Given the description of an element on the screen output the (x, y) to click on. 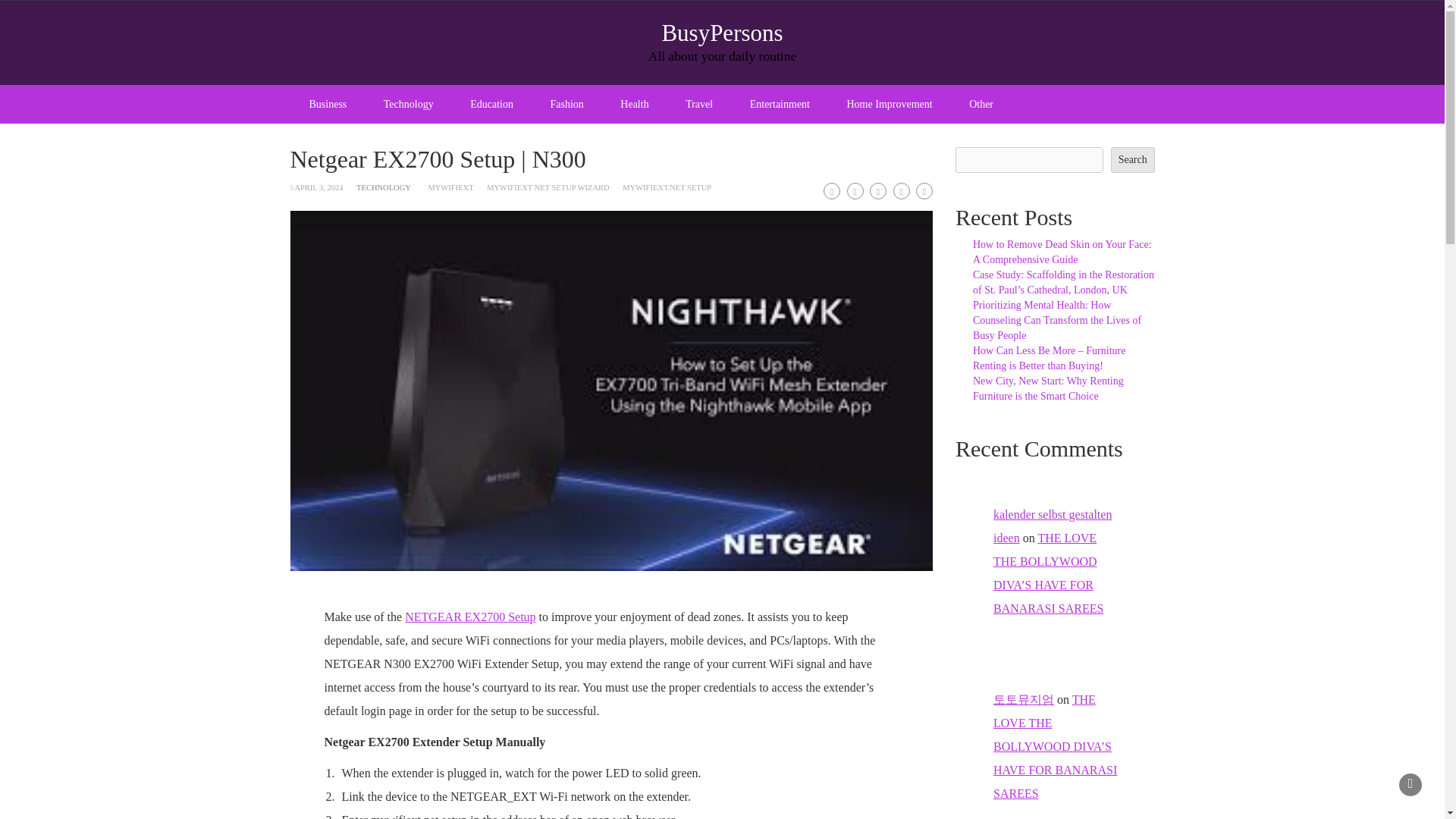
NETGEAR EX2700 Setup (469, 616)
Entertainment (780, 104)
Education (491, 104)
Search (1132, 159)
Other (981, 104)
Home Improvement (889, 104)
APRIL 3, 2024 (318, 187)
Health (634, 104)
MYWIFIEXT.NET SETUP (667, 187)
